Given the description of an element on the screen output the (x, y) to click on. 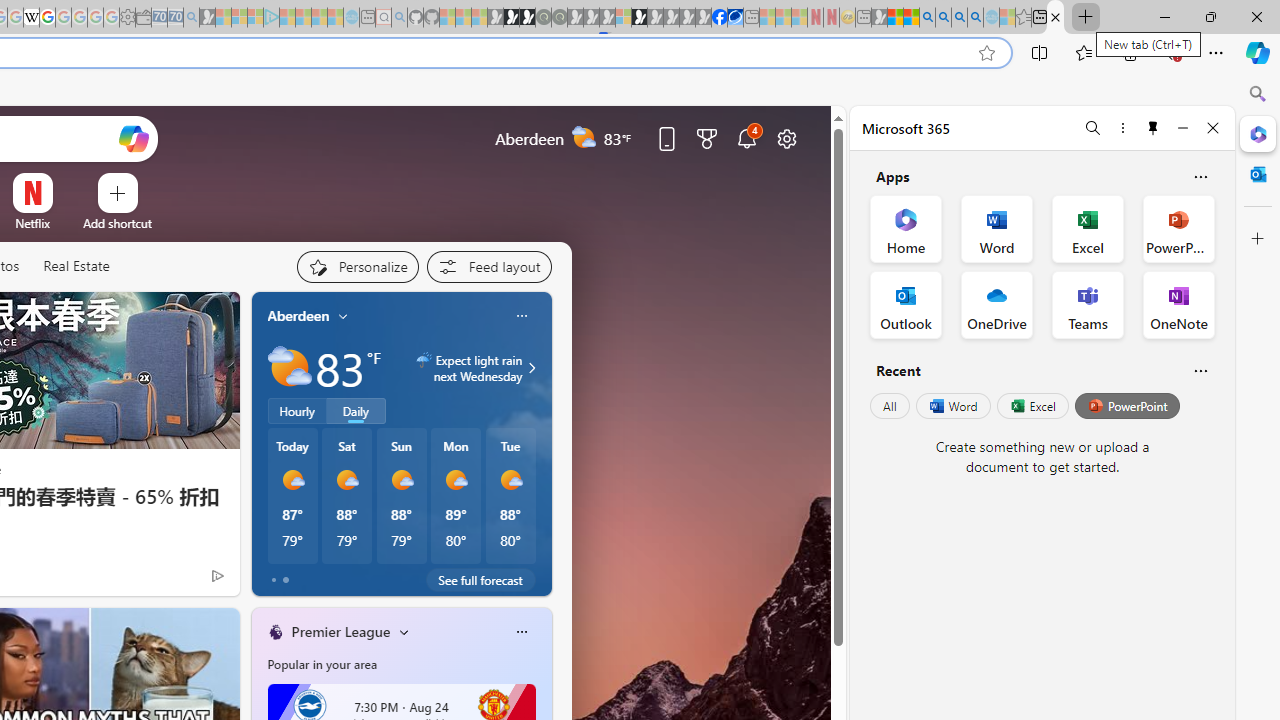
All (890, 406)
OneDrive Office App (996, 304)
Mostly sunny (510, 479)
Teams Office App (1087, 304)
Wallet - Sleeping (143, 17)
Ad Choice (217, 575)
Home Office App (906, 228)
Sign in to your account - Sleeping (623, 17)
Word (952, 406)
Home | Sky Blue Bikes - Sky Blue Bikes - Sleeping (351, 17)
See full forecast (480, 579)
